Given the description of an element on the screen output the (x, y) to click on. 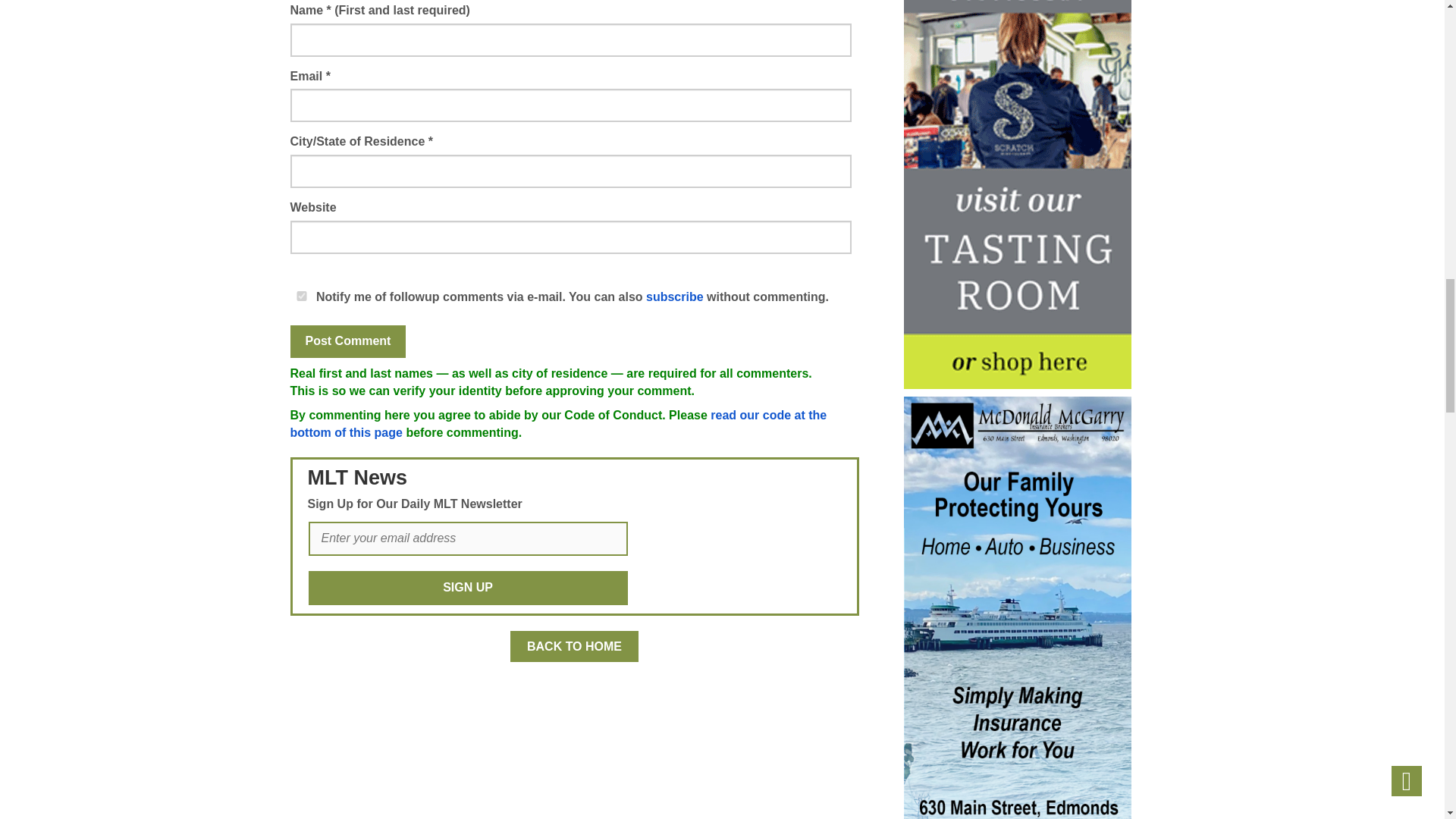
yes (301, 296)
Post Comment (347, 341)
Sign Up (467, 587)
